Given the description of an element on the screen output the (x, y) to click on. 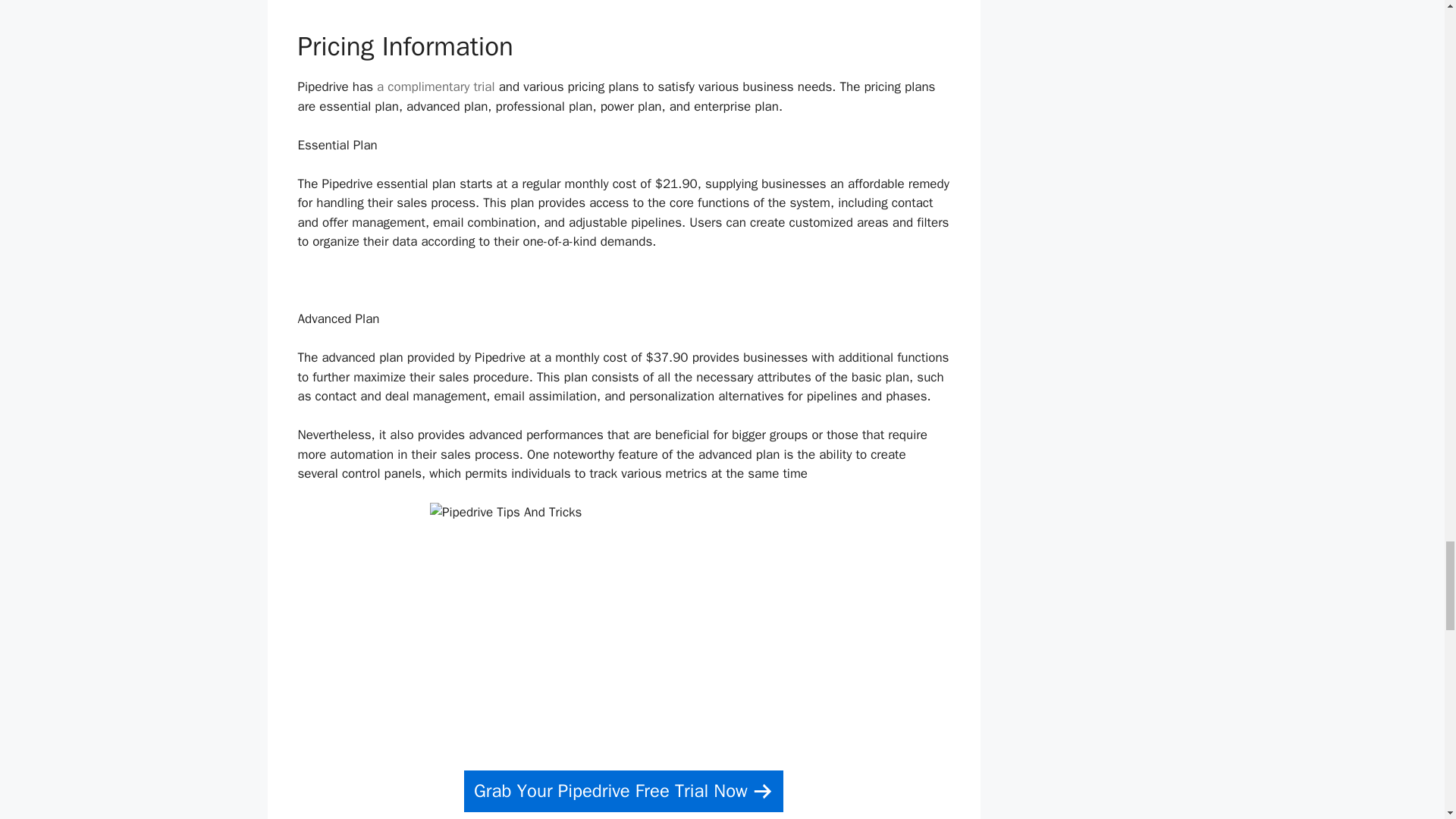
Grab Your Pipedrive Free Trial Now (623, 791)
a complimentary trial (436, 86)
